Given the description of an element on the screen output the (x, y) to click on. 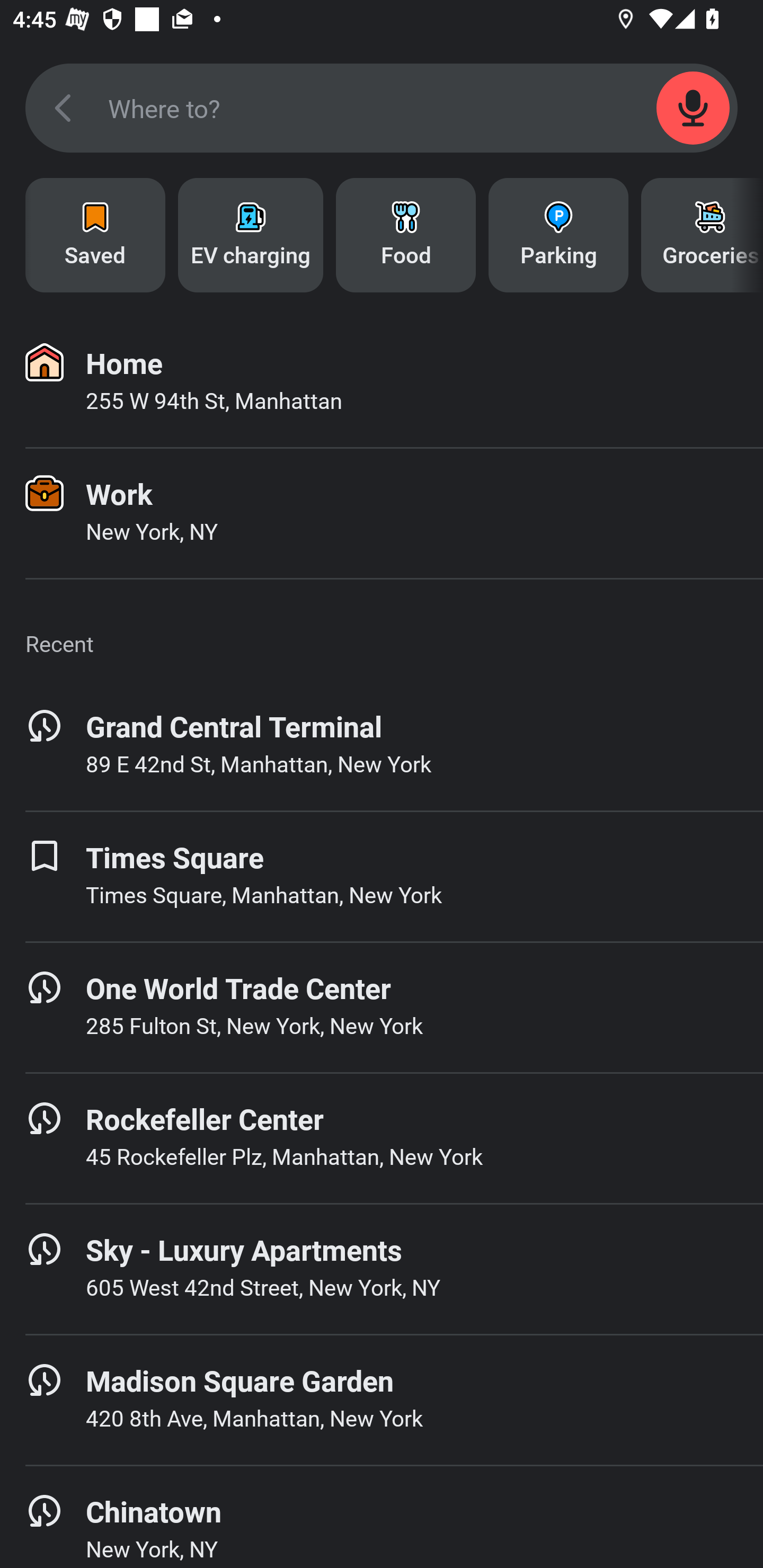
SEARCH_SCREEN_SEARCH_FIELD Where to? (381, 108)
Saved (95, 234)
EV charging (250, 234)
Food (405, 234)
Parking (558, 234)
Groceries (701, 234)
Home 255 W 94th St, Manhattan (381, 382)
Work New York, NY (381, 513)
Times Square Times Square, Manhattan, New York (381, 876)
Chinatown New York, NY (381, 1517)
